Given the description of an element on the screen output the (x, y) to click on. 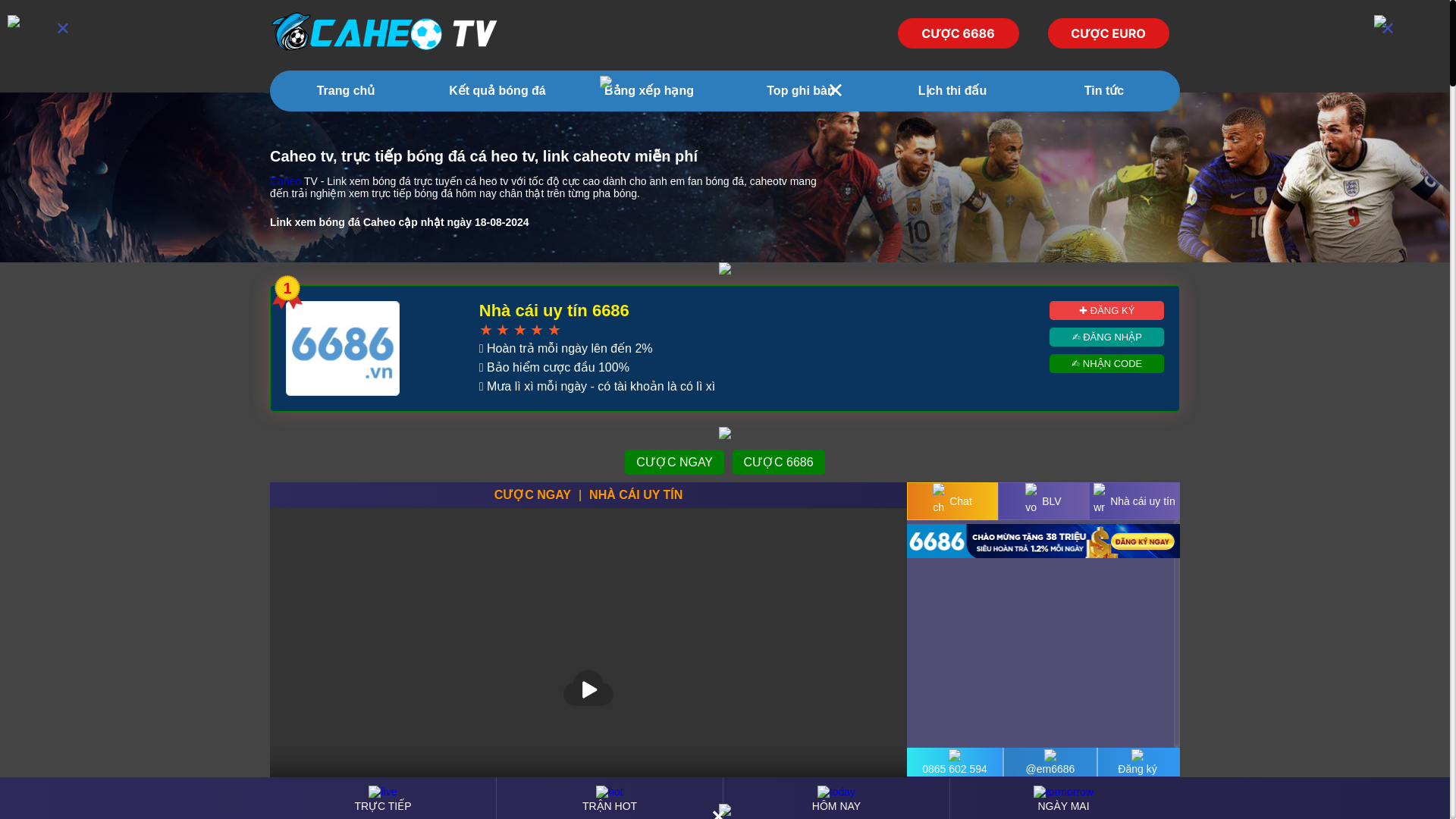
Play (588, 687)
Caheo (383, 33)
Play (588, 687)
Caheo (285, 181)
